Given the description of an element on the screen output the (x, y) to click on. 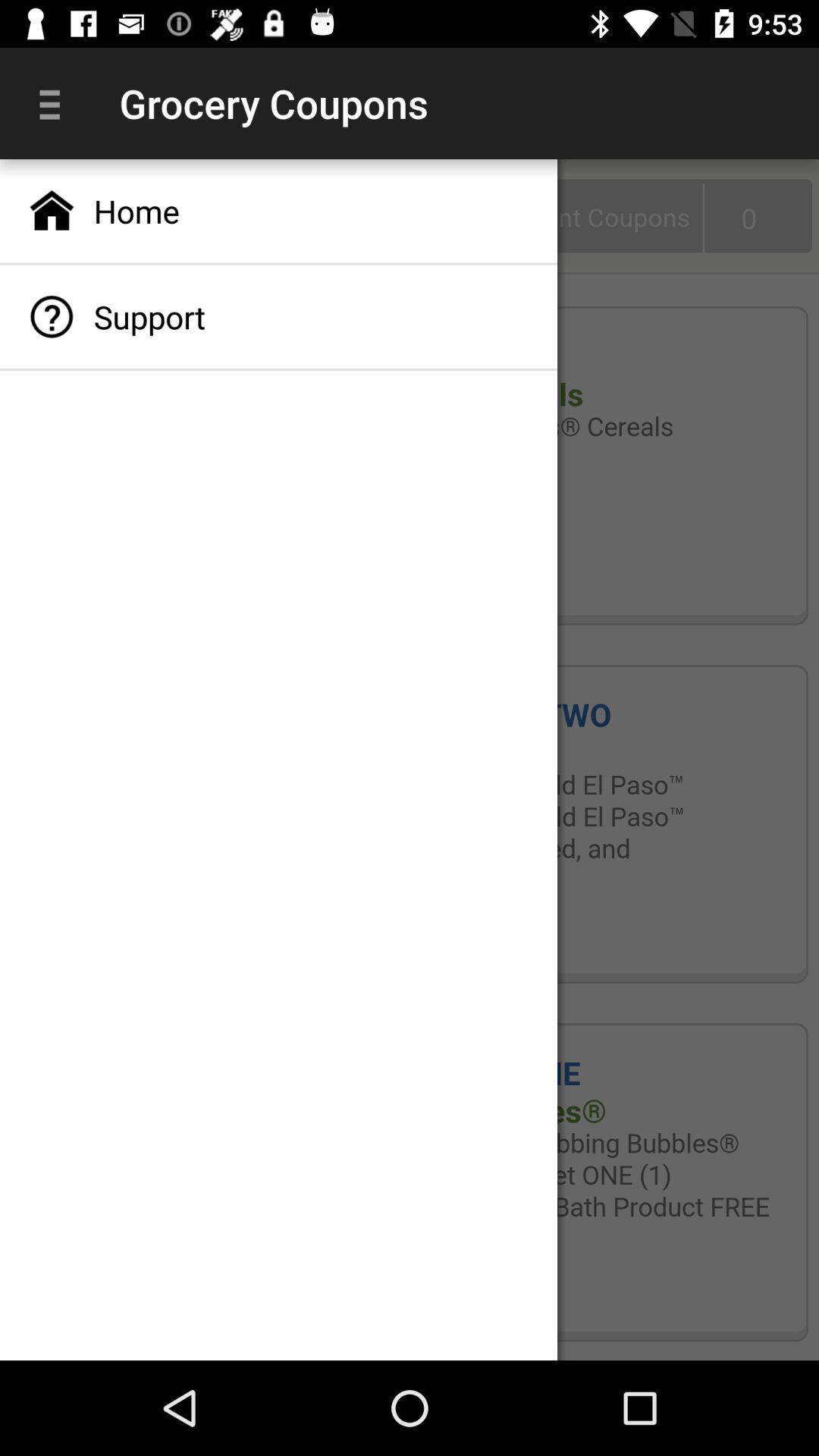
turn off item to the left of grocery coupons (55, 103)
